Given the description of an element on the screen output the (x, y) to click on. 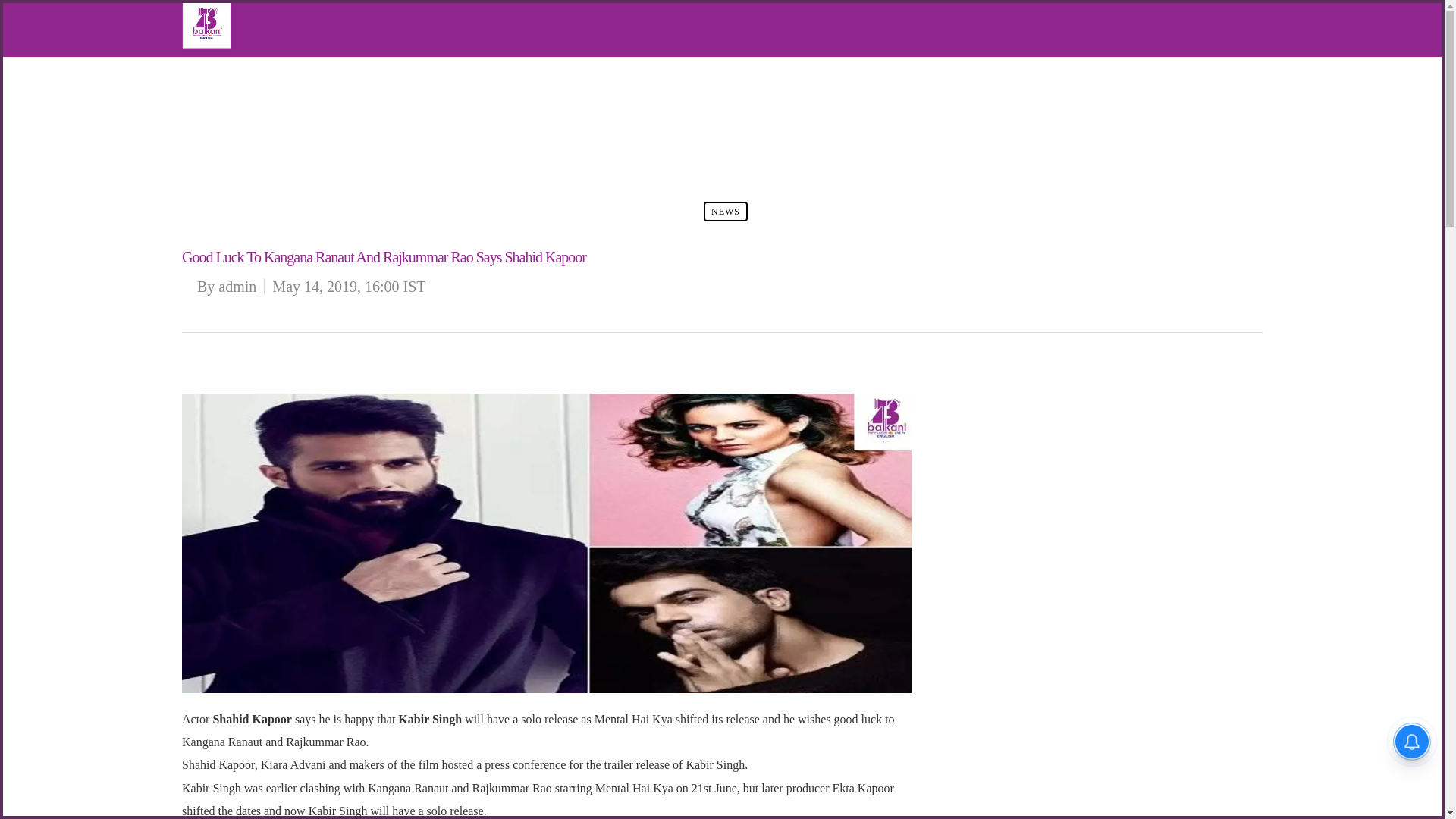
HOME (229, 68)
NEWS (229, 91)
LANGUAGE (242, 159)
FROM-BALKANI (253, 114)
LIFESTYLE (241, 136)
SEARCH (234, 182)
NEWS (725, 211)
